Given the description of an element on the screen output the (x, y) to click on. 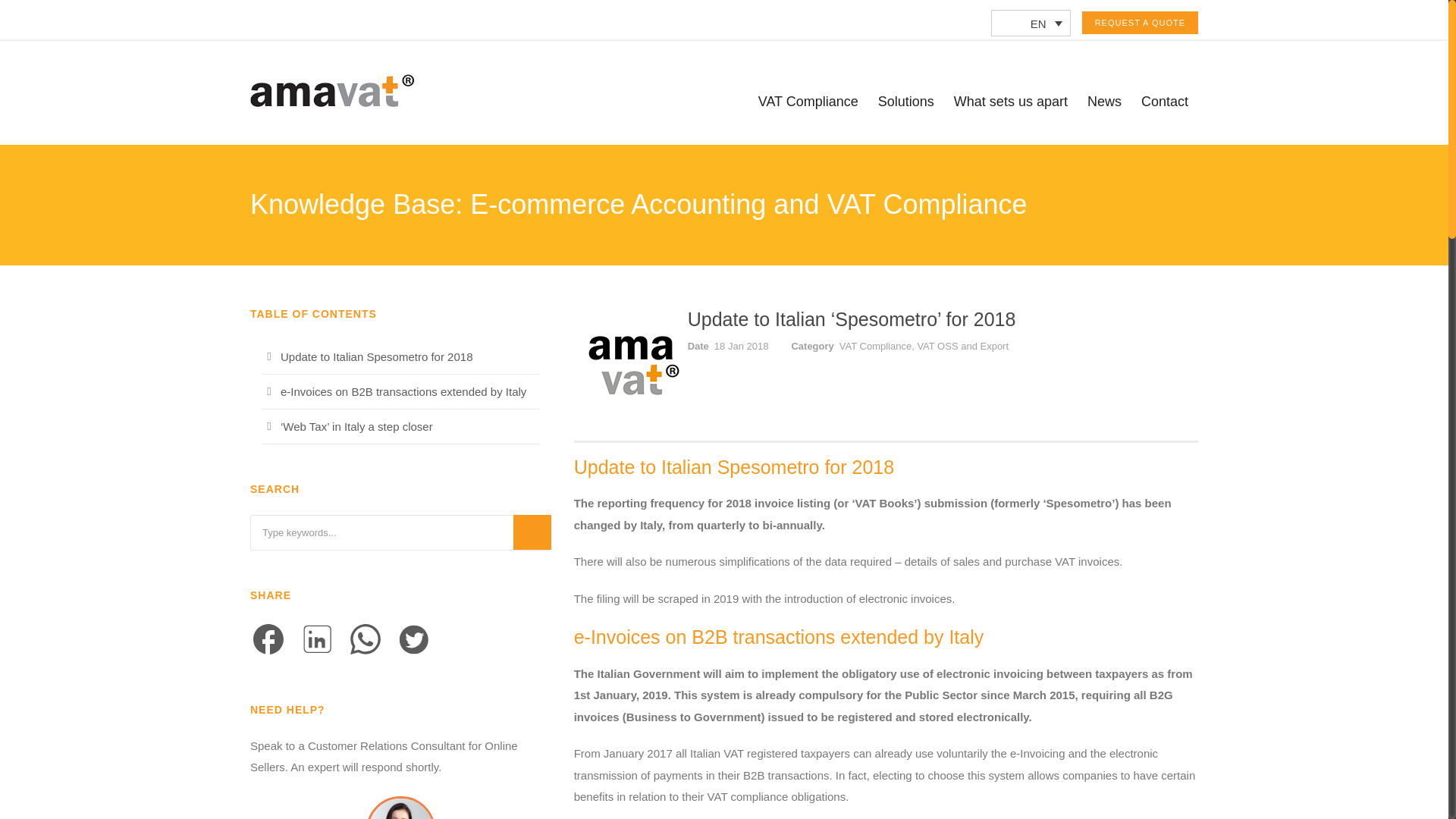
VAT Compliance (807, 116)
REQUEST A QUOTE (1139, 22)
VAT Compliance (807, 116)
Request a Quote (1139, 22)
Solutions (905, 116)
What sets us apart (1010, 116)
EN (1030, 22)
